Given the description of an element on the screen output the (x, y) to click on. 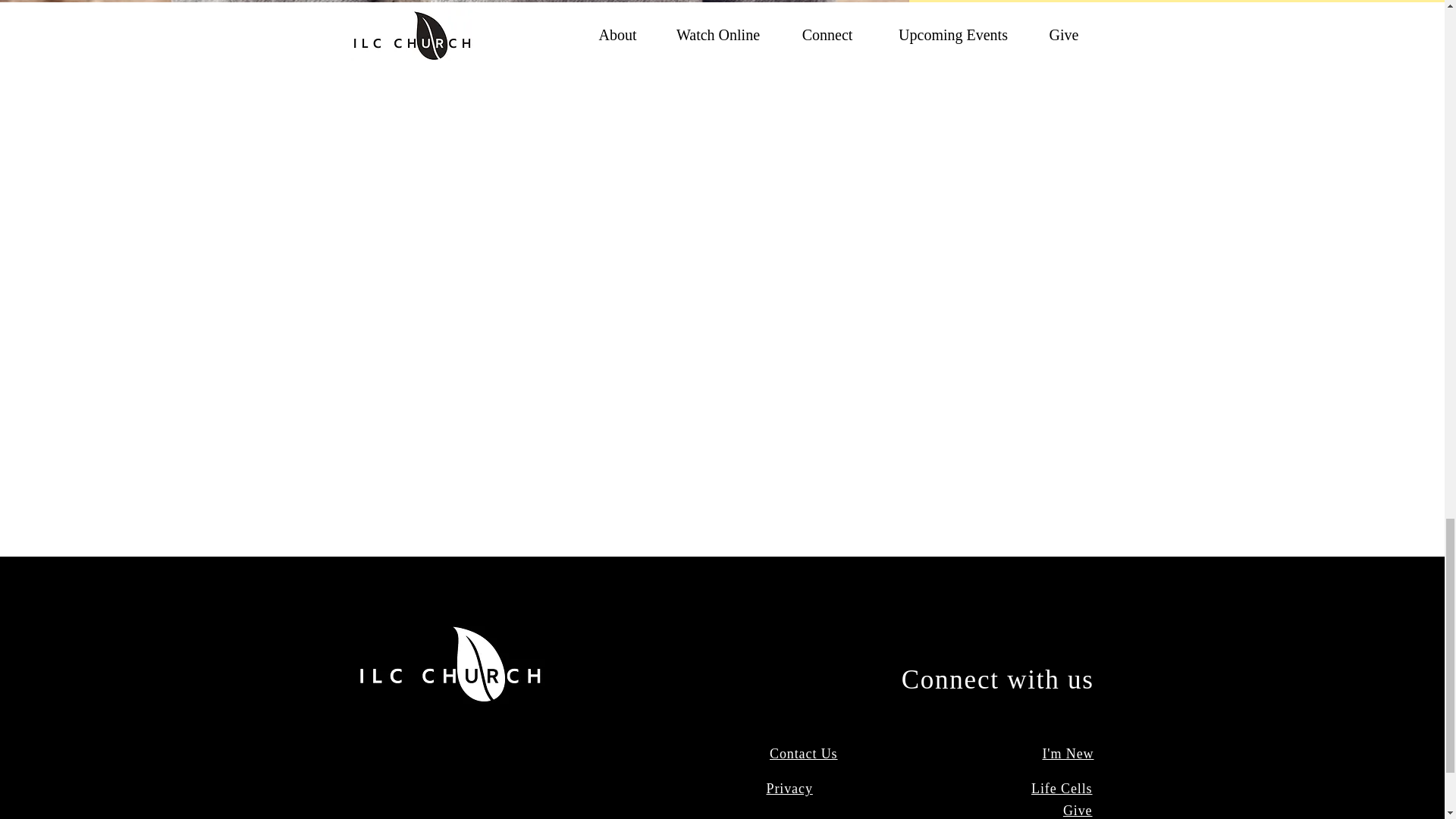
Happy - ILC Church - Wolverhampton - ILC (929, 25)
Give (1077, 810)
I'm New (1067, 753)
Life Cells (1061, 788)
Privacy (788, 788)
Contact Us (804, 753)
